Given the description of an element on the screen output the (x, y) to click on. 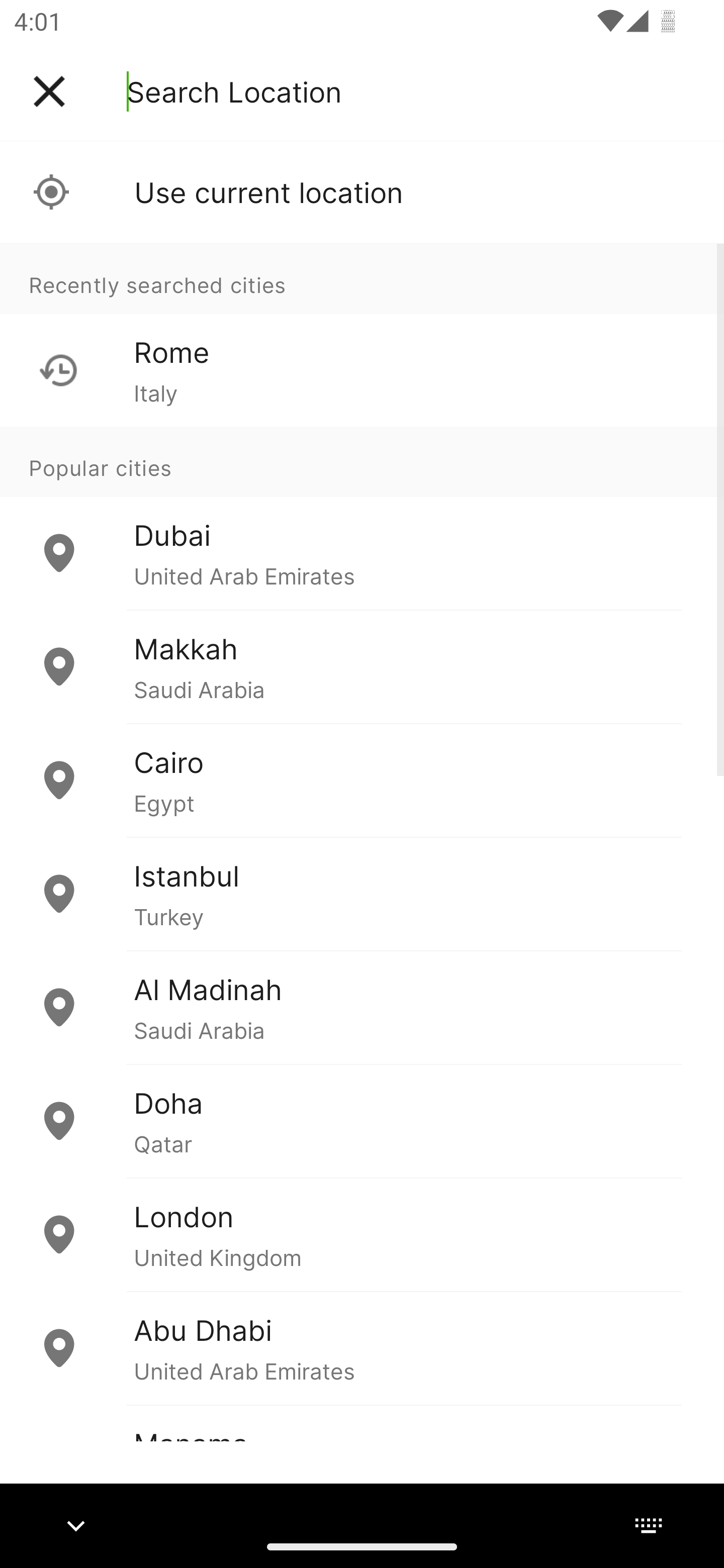
Search Location (234, 91)
Use current location (362, 192)
Recently searched cities Rome Italy (362, 334)
Recently searched cities (362, 278)
Popular cities Dubai United Arab Emirates (362, 517)
Popular cities (362, 461)
Makkah Saudi Arabia (362, 665)
Cairo Egypt (362, 779)
Istanbul Turkey (362, 893)
Al Madinah Saudi Arabia (362, 1007)
Doha Qatar (362, 1120)
London United Kingdom (362, 1233)
Abu Dhabi United Arab Emirates (362, 1347)
